Given the description of an element on the screen output the (x, y) to click on. 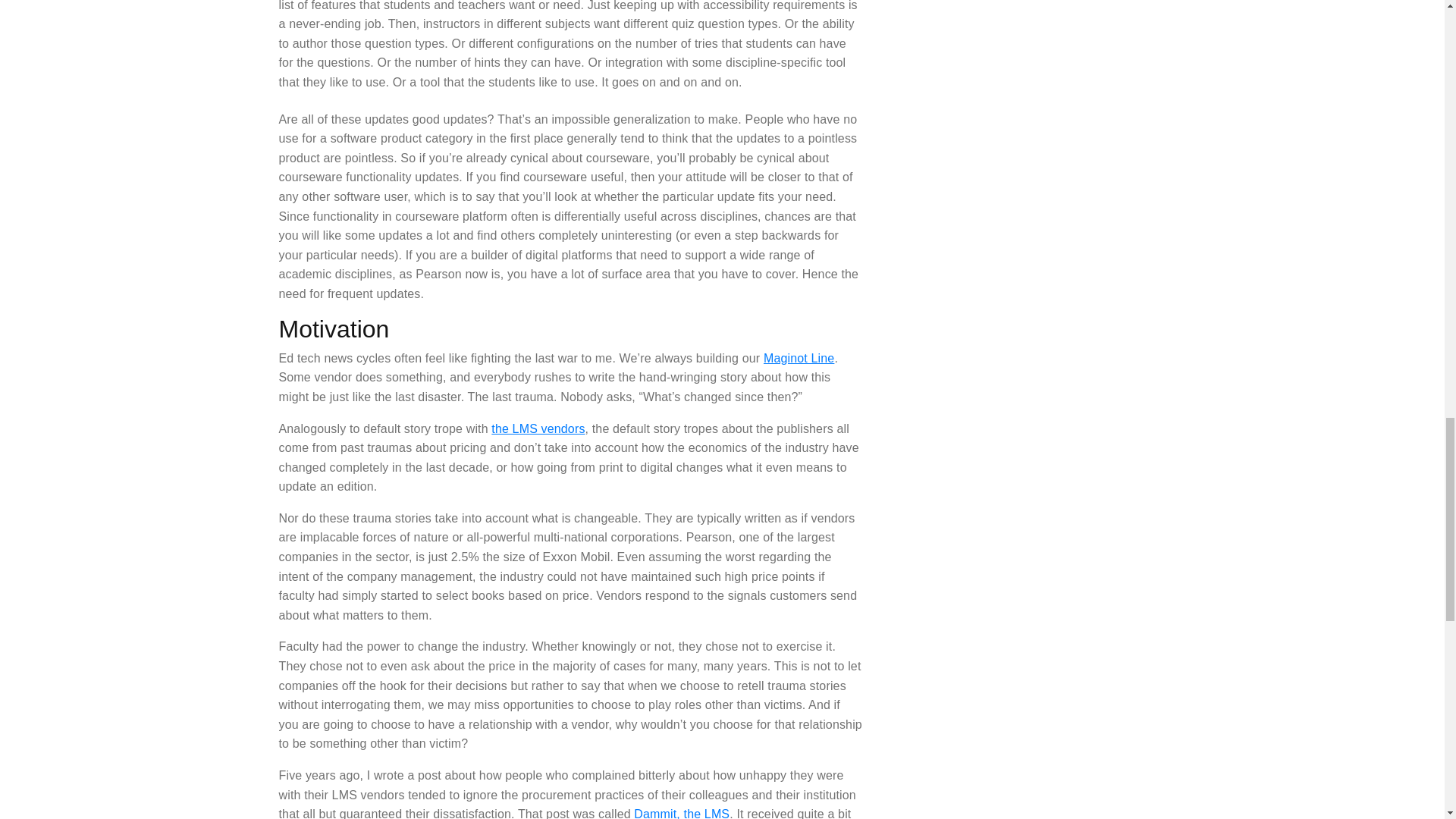
the LMS vendors (538, 427)
Maginot Line (798, 358)
Dammit, the LMS (681, 813)
